Given the description of an element on the screen output the (x, y) to click on. 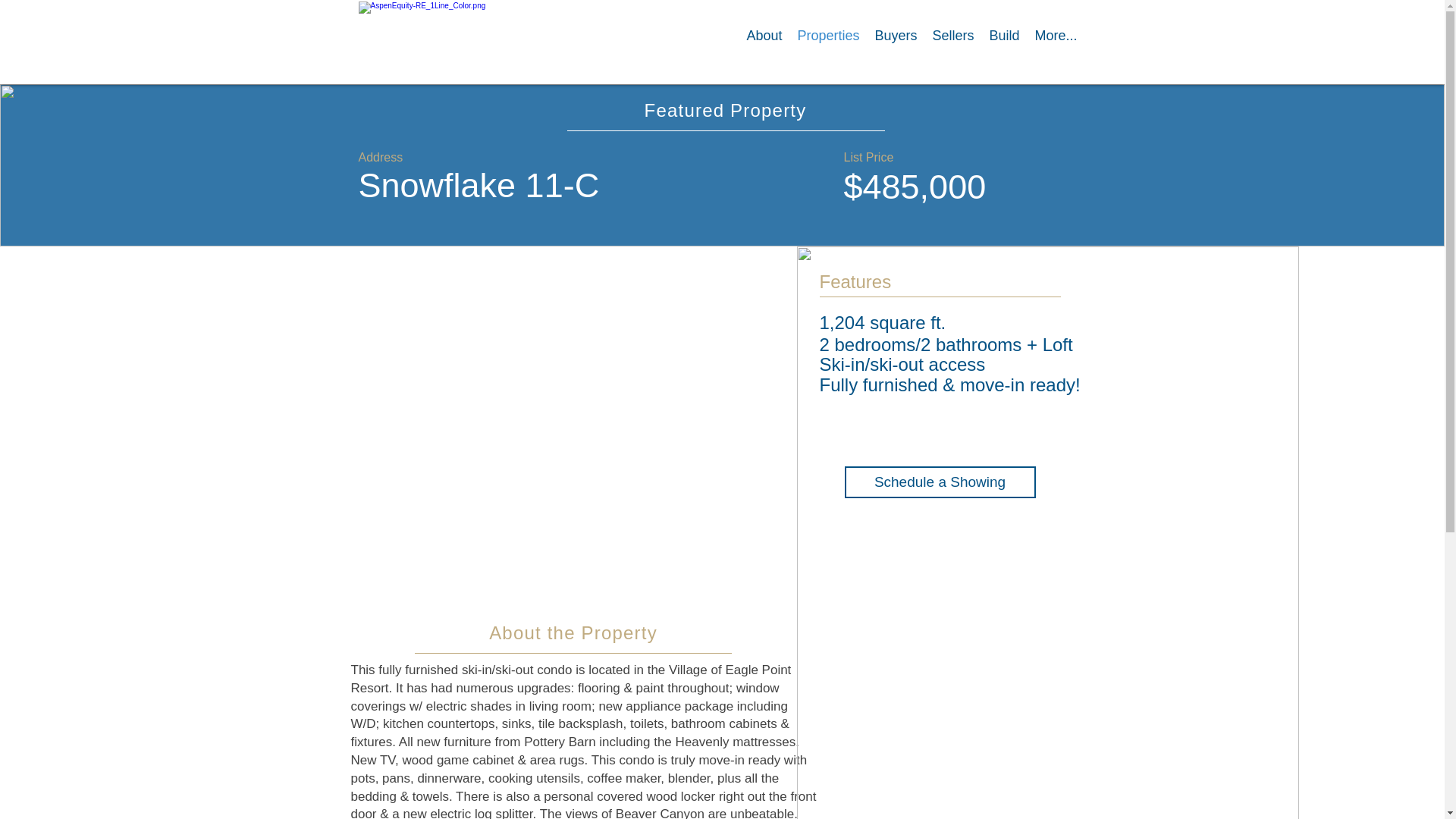
Sellers (952, 49)
Properties (827, 49)
Build (1004, 49)
Buyers (895, 49)
About (763, 49)
Schedule a Showing (939, 481)
